Given the description of an element on the screen output the (x, y) to click on. 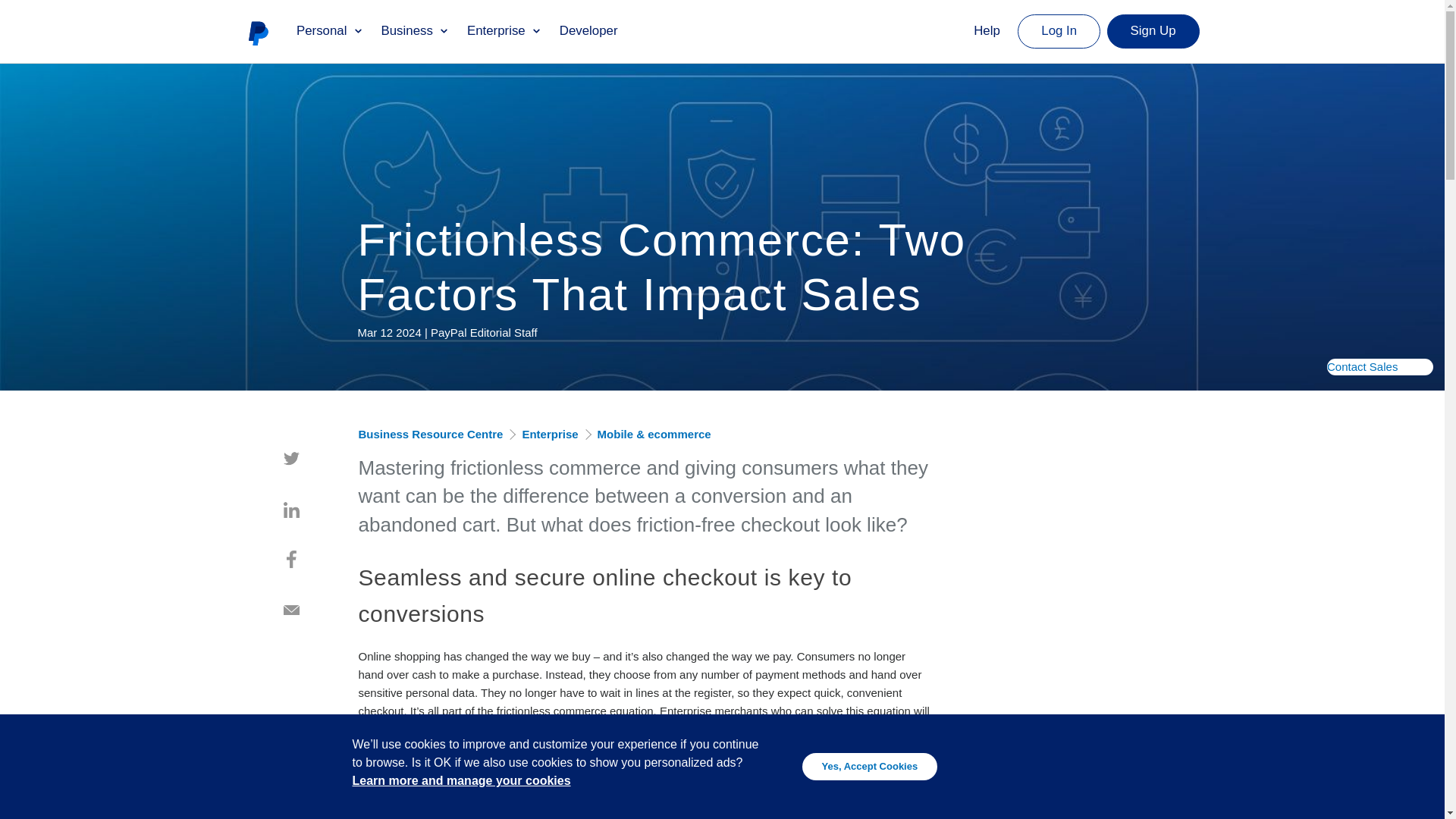
PayPal logo (257, 32)
Personal (328, 30)
Business (413, 30)
Enterprise (503, 30)
